Given the description of an element on the screen output the (x, y) to click on. 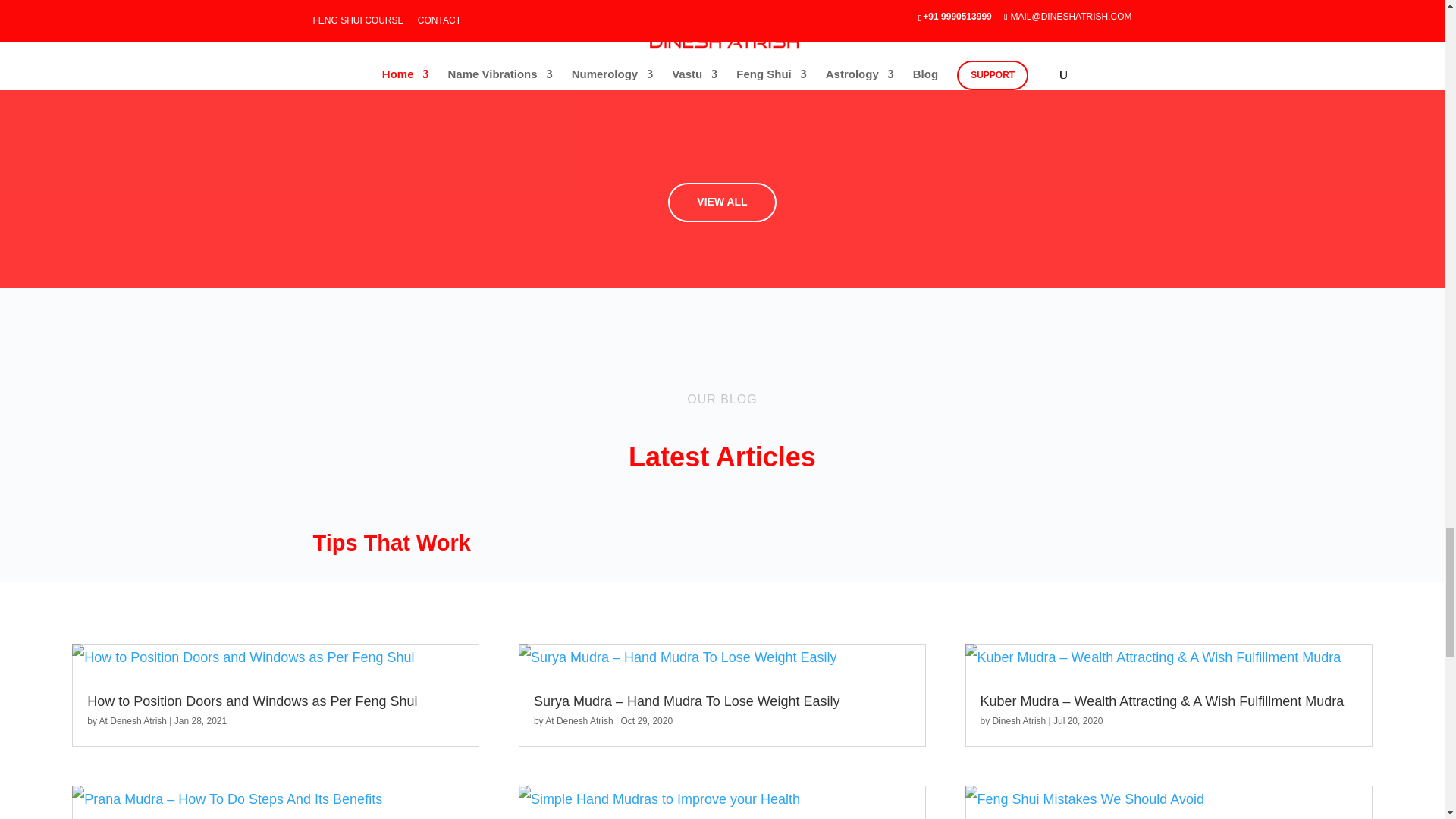
Posts by At Denesh Atrish (578, 720)
Posts by At Denesh Atrish (133, 720)
Posts by Dinesh Atrish (1019, 720)
